Given the description of an element on the screen output the (x, y) to click on. 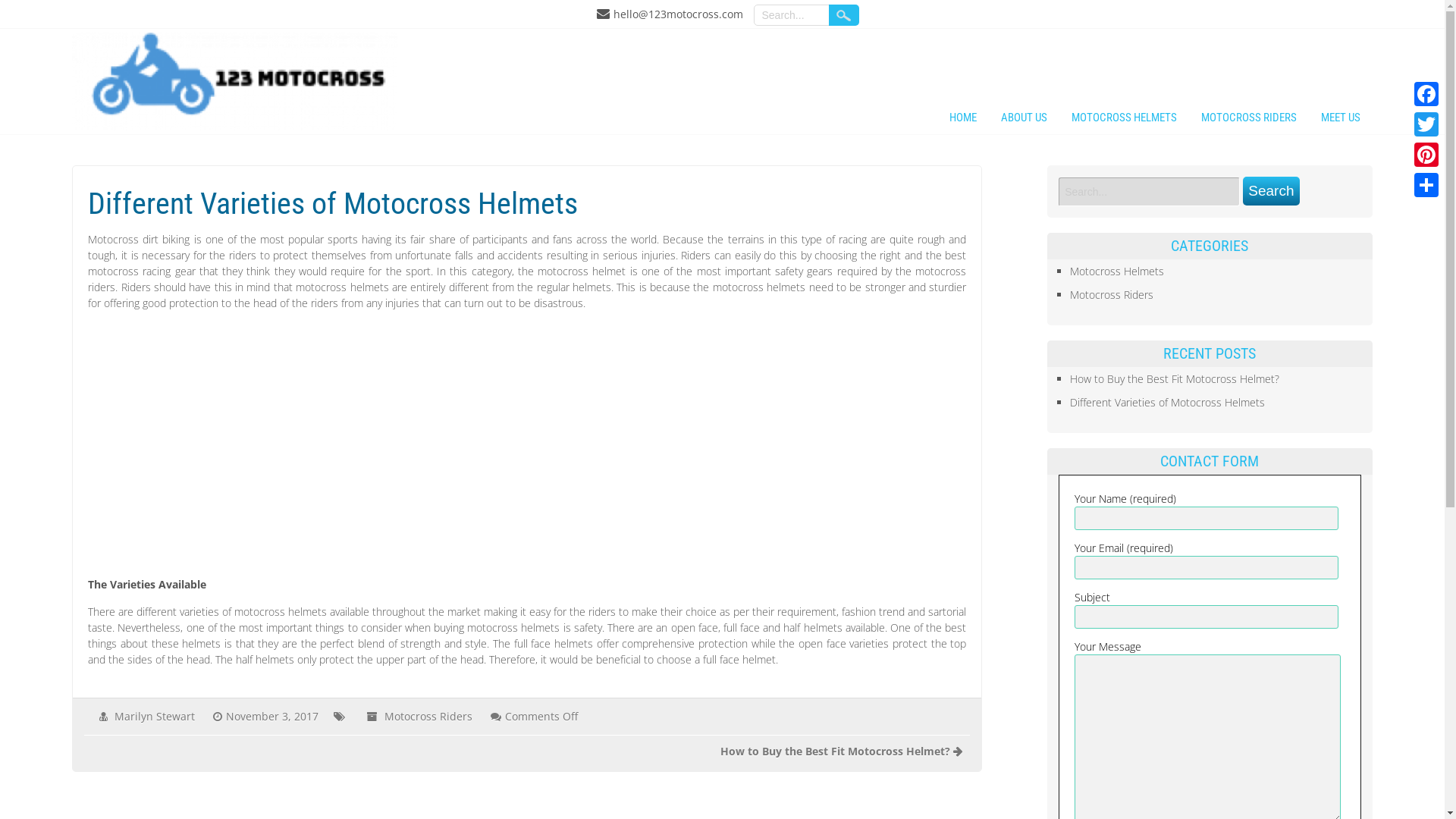
Share Element type: text (1426, 184)
Search Element type: text (843, 14)
Facebook Element type: text (1426, 93)
MOTOCROSS RIDERS Element type: text (1248, 119)
Twitter Element type: text (1426, 124)
Different Varieties of Motocross Helmets Element type: text (1167, 402)
Marilyn Stewart Element type: text (154, 716)
Motocross Riders Element type: text (428, 716)
Pinterest Element type: text (1426, 154)
How to Buy the Best Fit Motocross Helmet? Element type: text (1174, 378)
Search Element type: text (1270, 190)
Motocross Riders Element type: text (1111, 294)
Motocross Helmets Element type: text (1117, 270)
How to Buy the Best Fit Motocross Helmet? Element type: text (835, 750)
MOTOCROSS HELMETS Element type: text (1124, 119)
HOME Element type: text (963, 119)
MEET US Element type: text (1340, 119)
ABOUT US Element type: text (1023, 119)
